Given the description of an element on the screen output the (x, y) to click on. 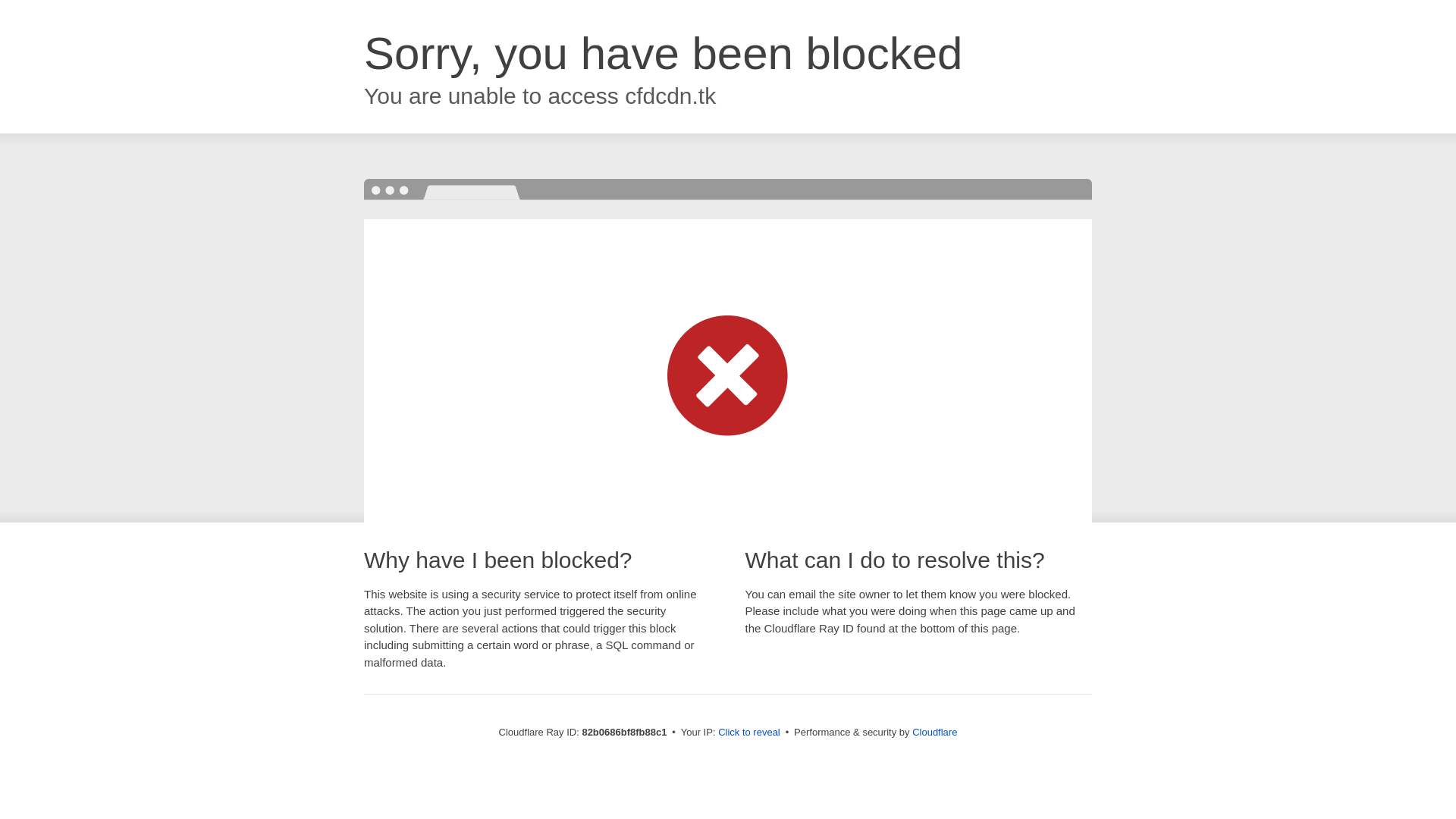
Cloudflare Element type: text (934, 731)
Click to reveal Element type: text (749, 732)
